Given the description of an element on the screen output the (x, y) to click on. 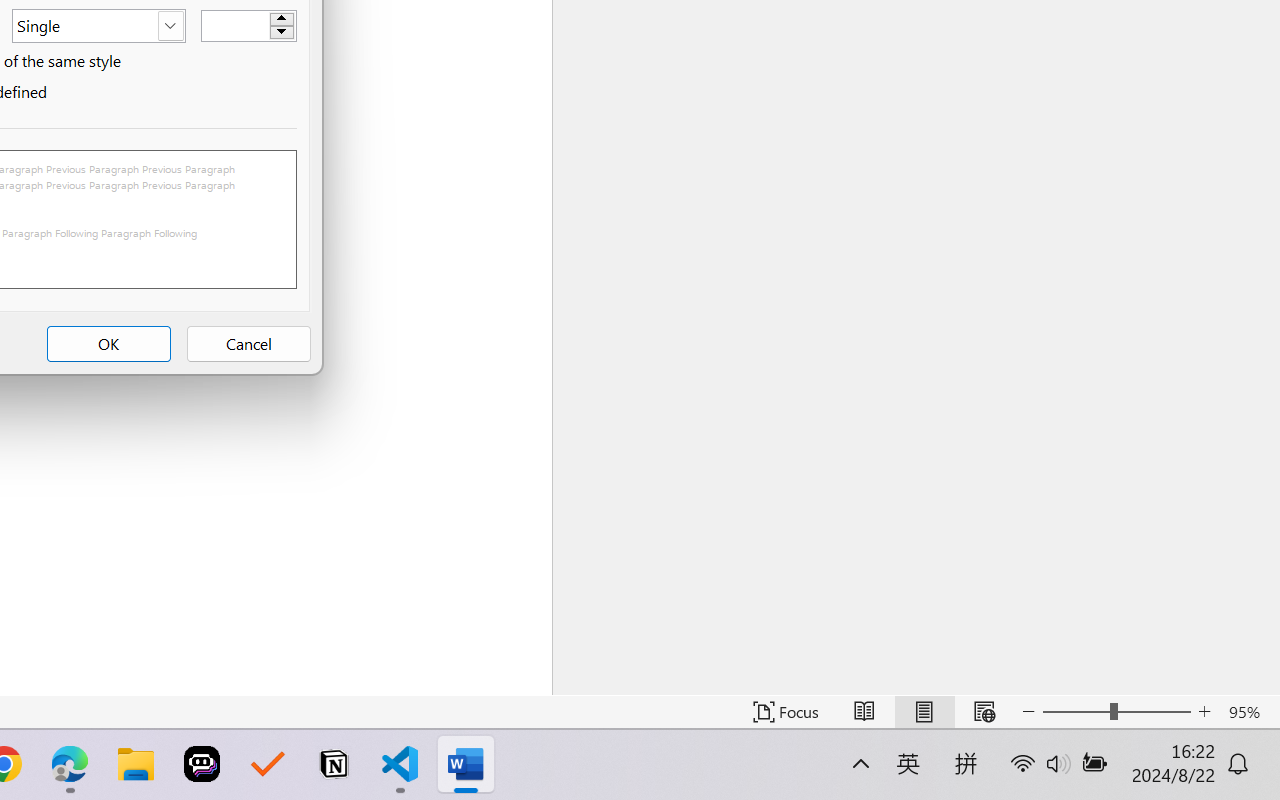
Cancel (248, 343)
At: (248, 25)
OK (108, 343)
Zoom 95% (1249, 712)
Poe (201, 764)
